Given the description of an element on the screen output the (x, y) to click on. 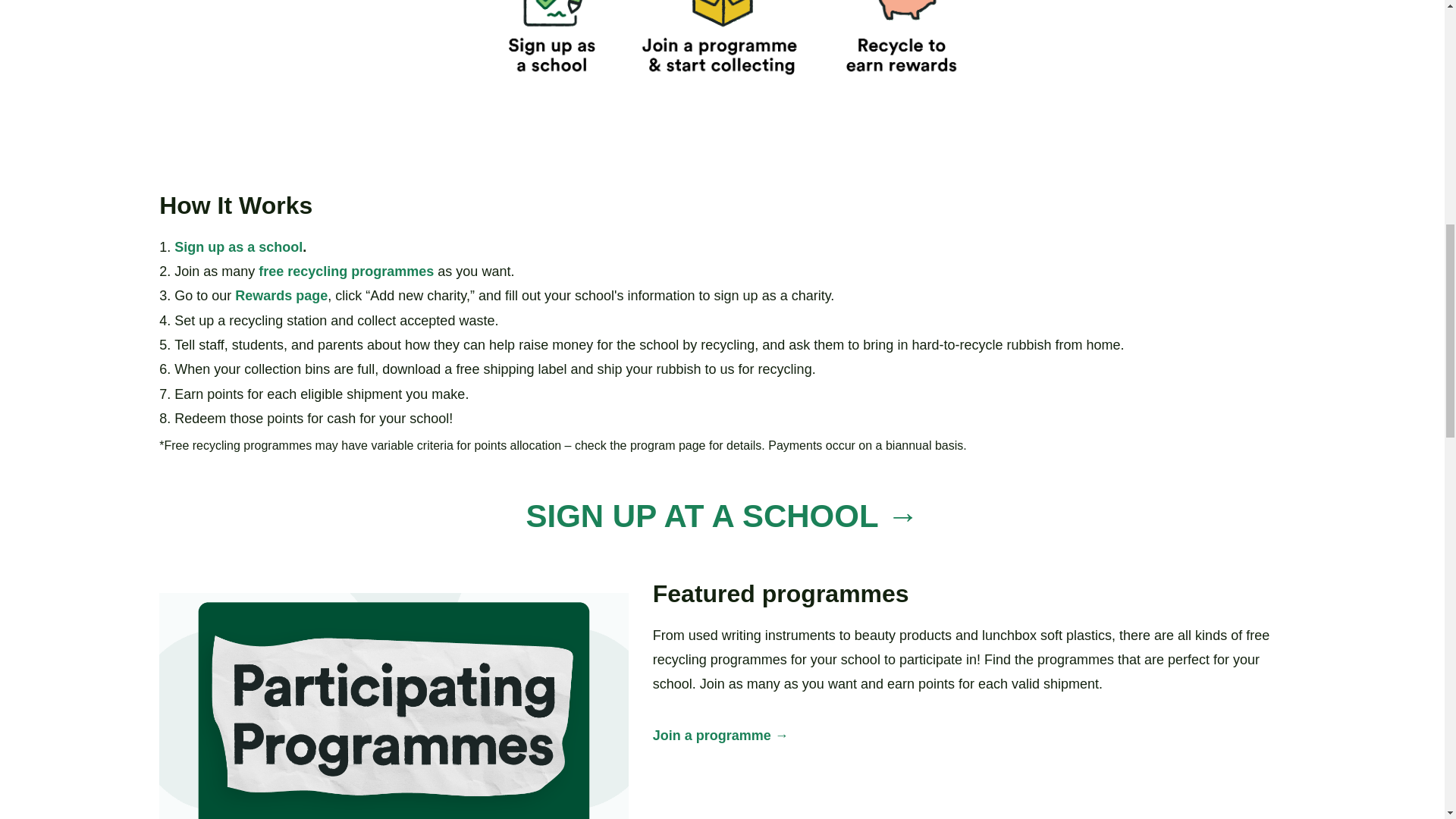
free recycling programmes (346, 271)
SIGN UP AT A SCHOOL (701, 515)
Join a programme (711, 735)
Rewards page (280, 295)
Sign up as a school (238, 246)
